Given the description of an element on the screen output the (x, y) to click on. 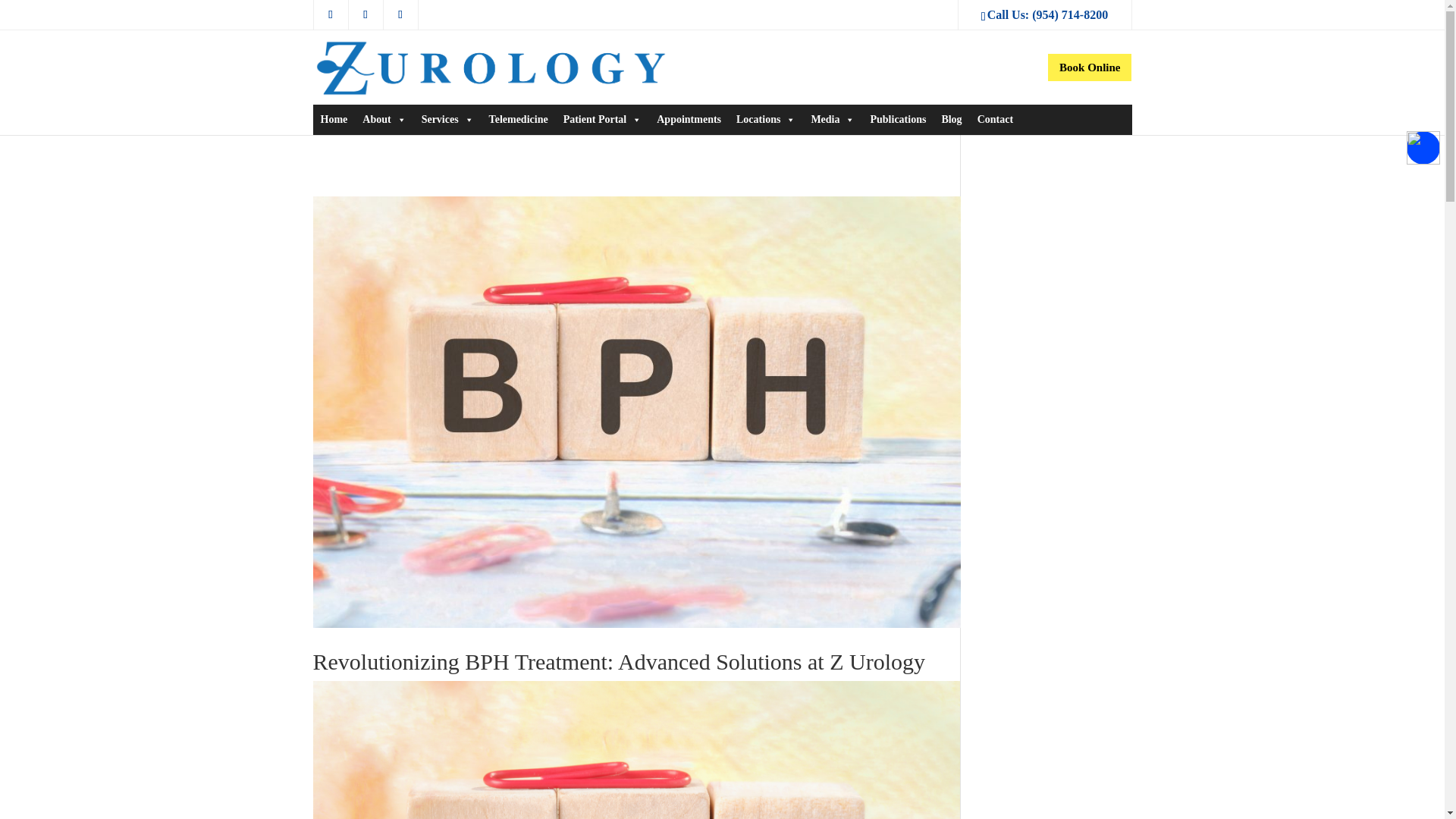
Book Online (1089, 66)
About (384, 119)
Home (334, 119)
Services (447, 119)
Accessibility Menu (1422, 147)
